Given the description of an element on the screen output the (x, y) to click on. 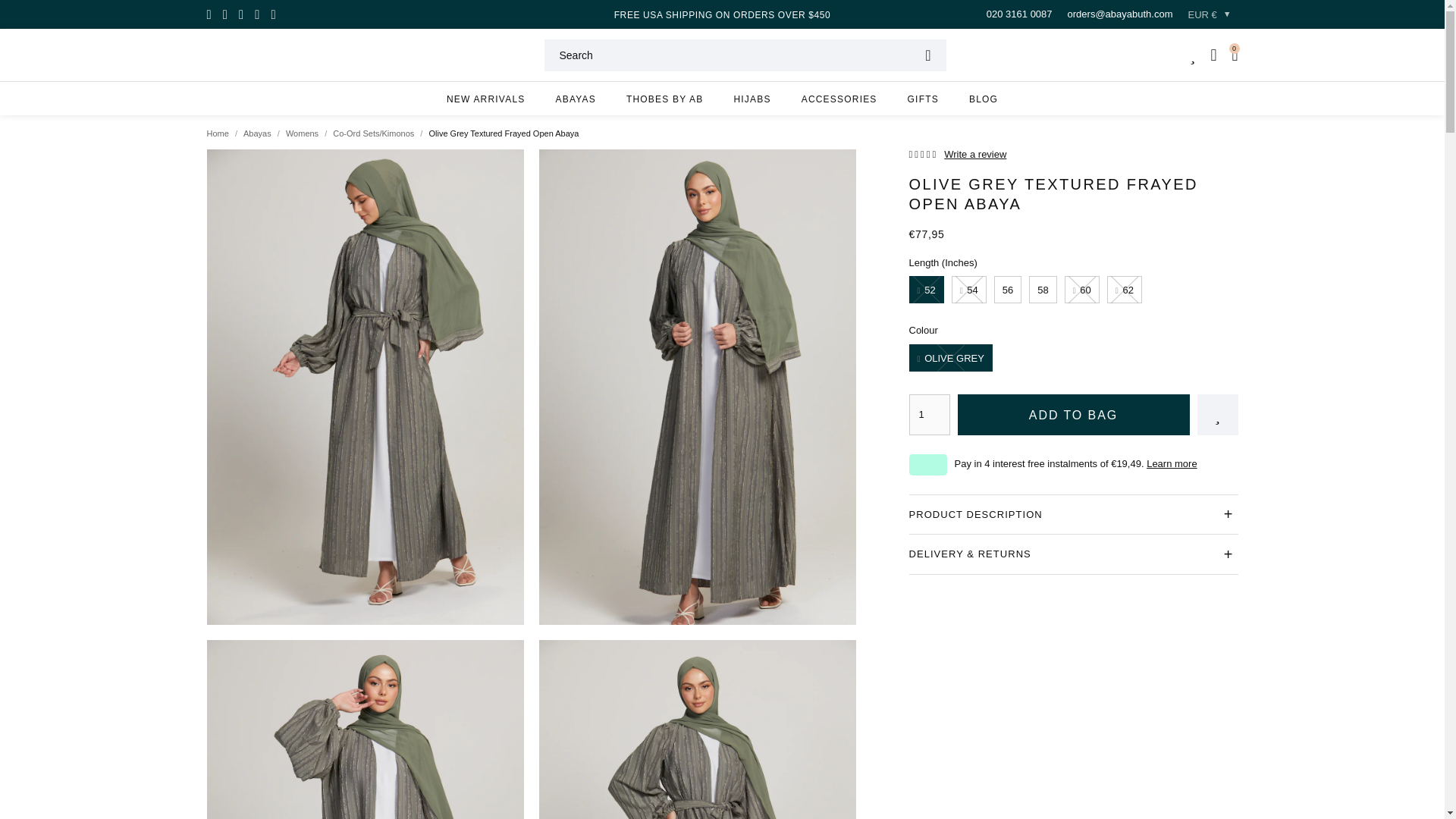
Home (217, 133)
020 3161 0087 (1019, 13)
NEW ARRIVALS (485, 98)
submit (927, 55)
Abayas (256, 133)
THOBES BY AB (665, 98)
Add to Bag (1072, 413)
ABAYAS (575, 98)
AbayaButh (287, 54)
Womens (301, 133)
1 (928, 413)
